Given the description of an element on the screen output the (x, y) to click on. 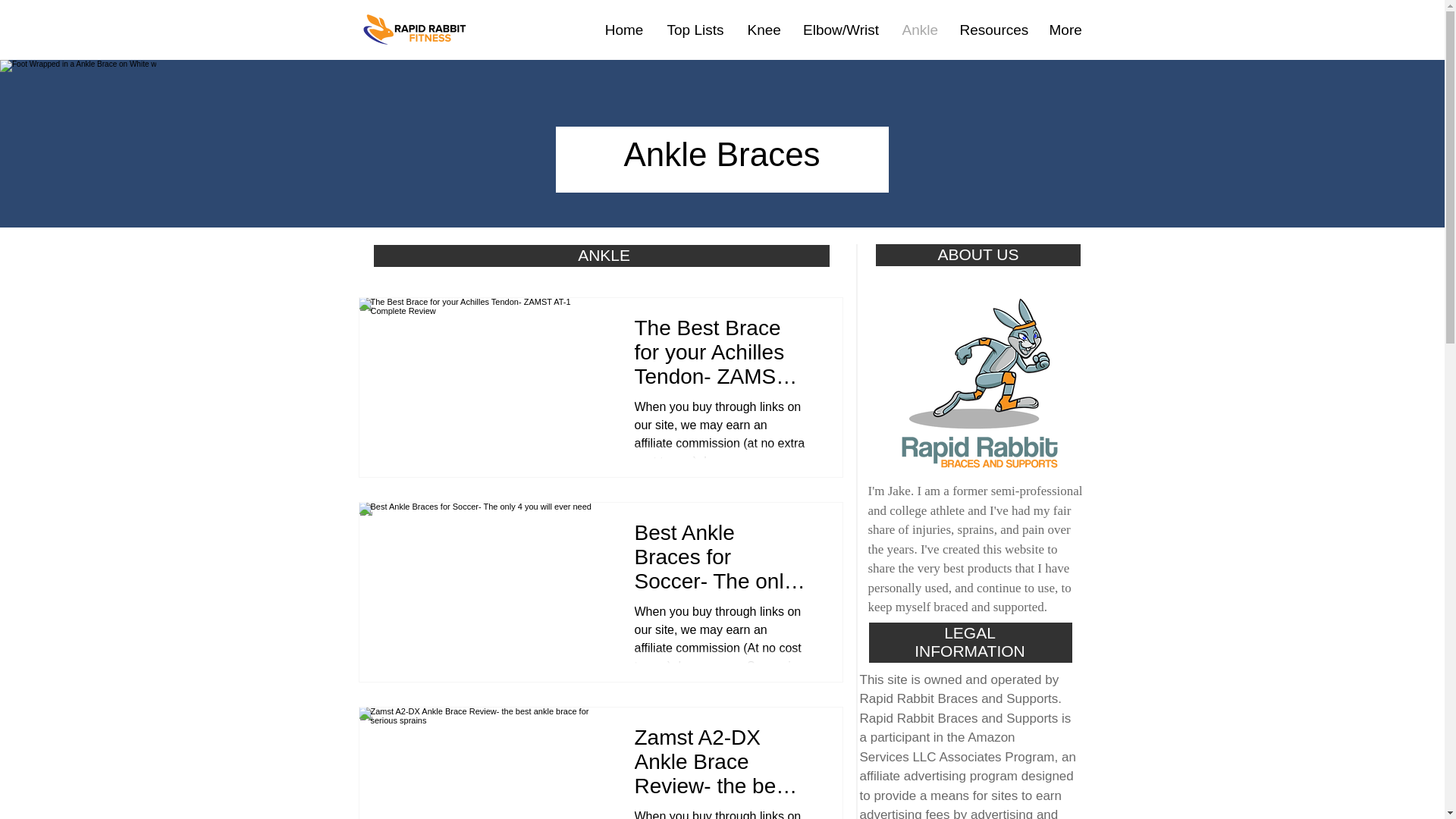
Top Lists (695, 29)
Knee (762, 29)
Resources (991, 29)
Best Ankle Braces for Soccer- The only 4 you will ever need (719, 561)
Ankle (918, 29)
Home (622, 29)
